Given the description of an element on the screen output the (x, y) to click on. 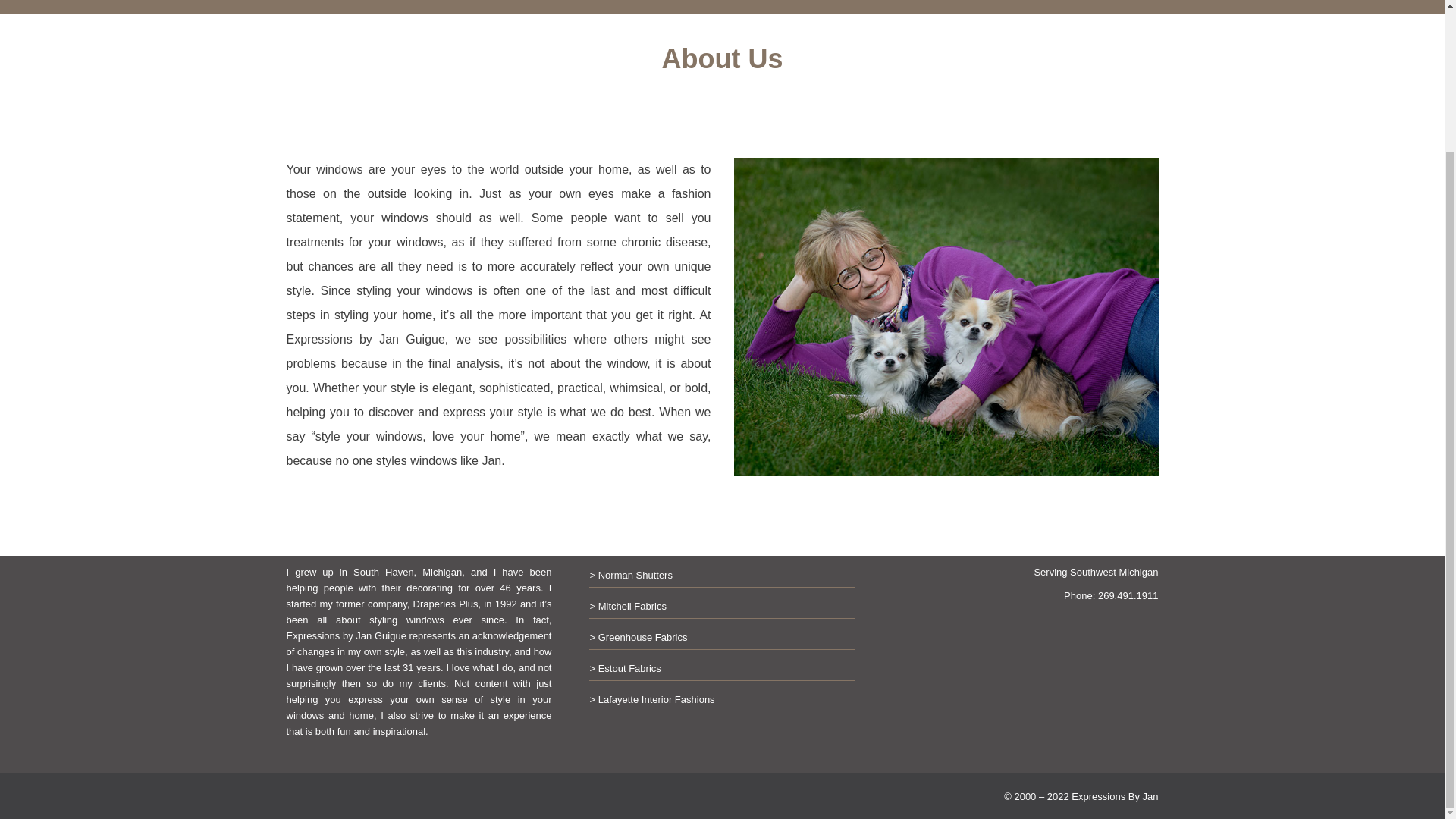
Home (303, 1)
Contact Us (441, 1)
About Us (366, 1)
